Given the description of an element on the screen output the (x, y) to click on. 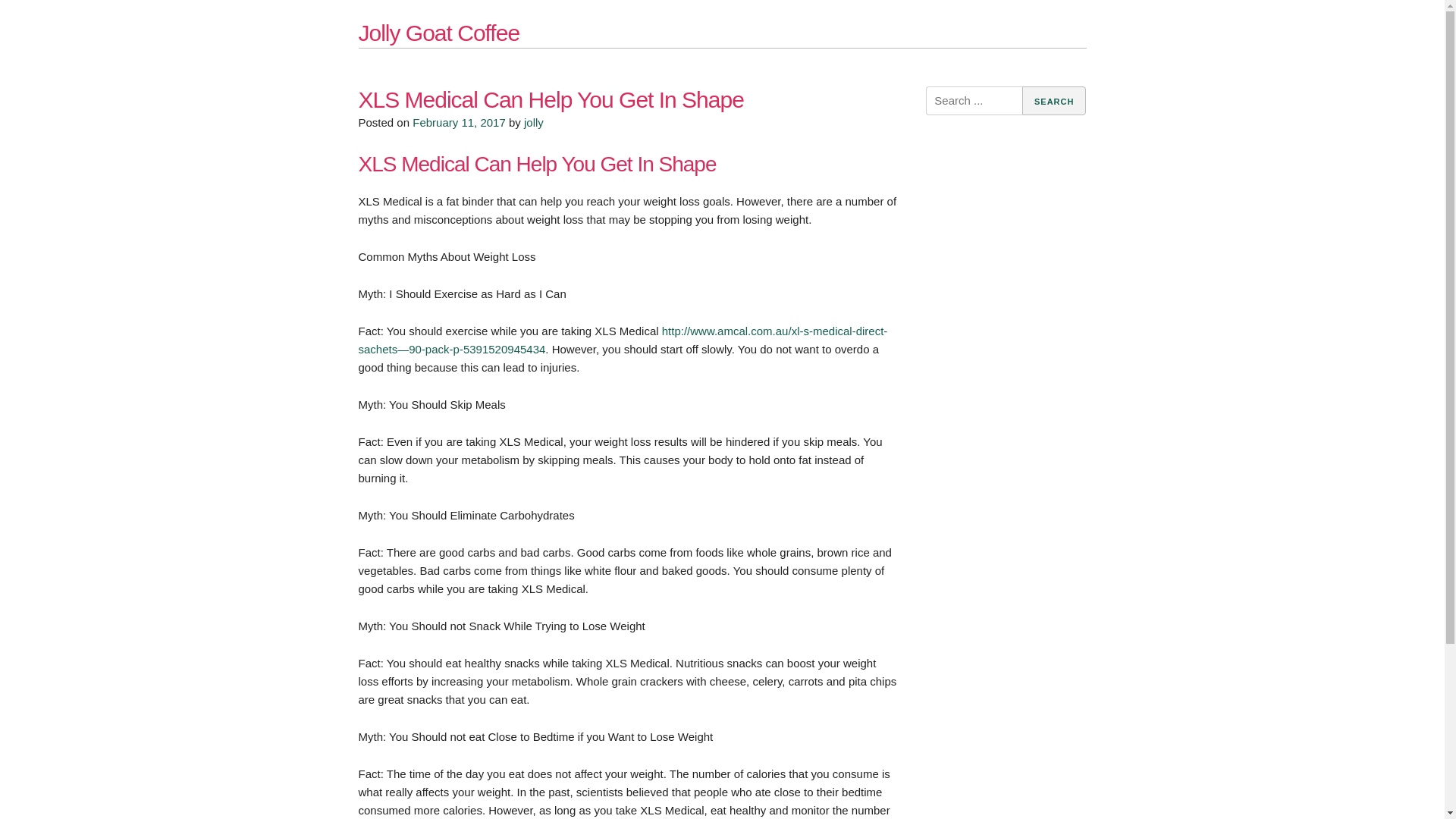
Search for: Element type: hover (973, 100)
jolly Element type: text (533, 121)
Search Element type: text (1053, 100)
Jolly Goat Coffee Element type: text (438, 32)
February 11, 2017 Element type: text (458, 121)
